Given the description of an element on the screen output the (x, y) to click on. 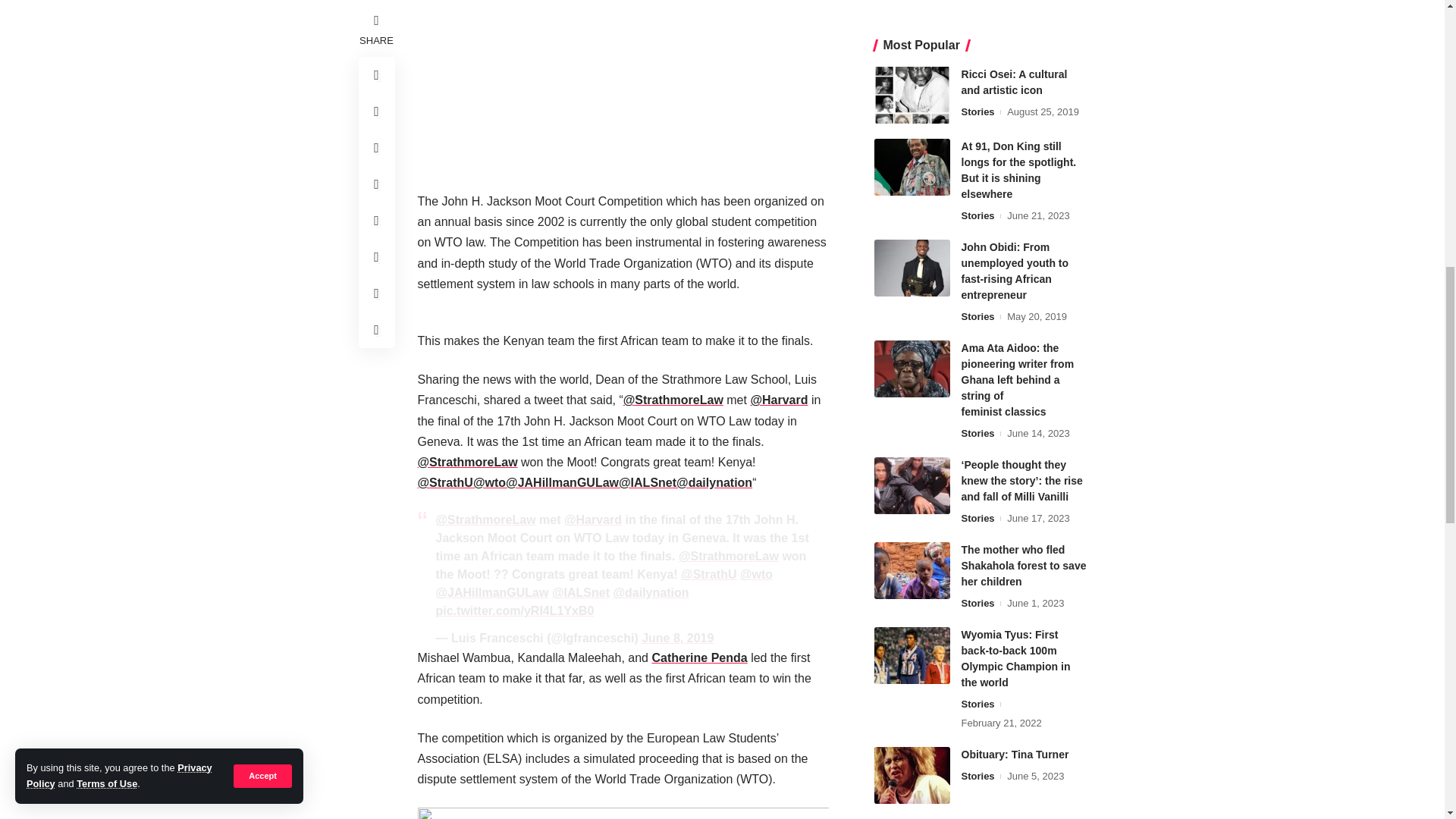
The mother who fled Shakahola forest to save her children (912, 5)
Obituary: Tina Turner (912, 186)
Venice Biennale: The woman behind the whirlwind festival (912, 258)
